Given the description of an element on the screen output the (x, y) to click on. 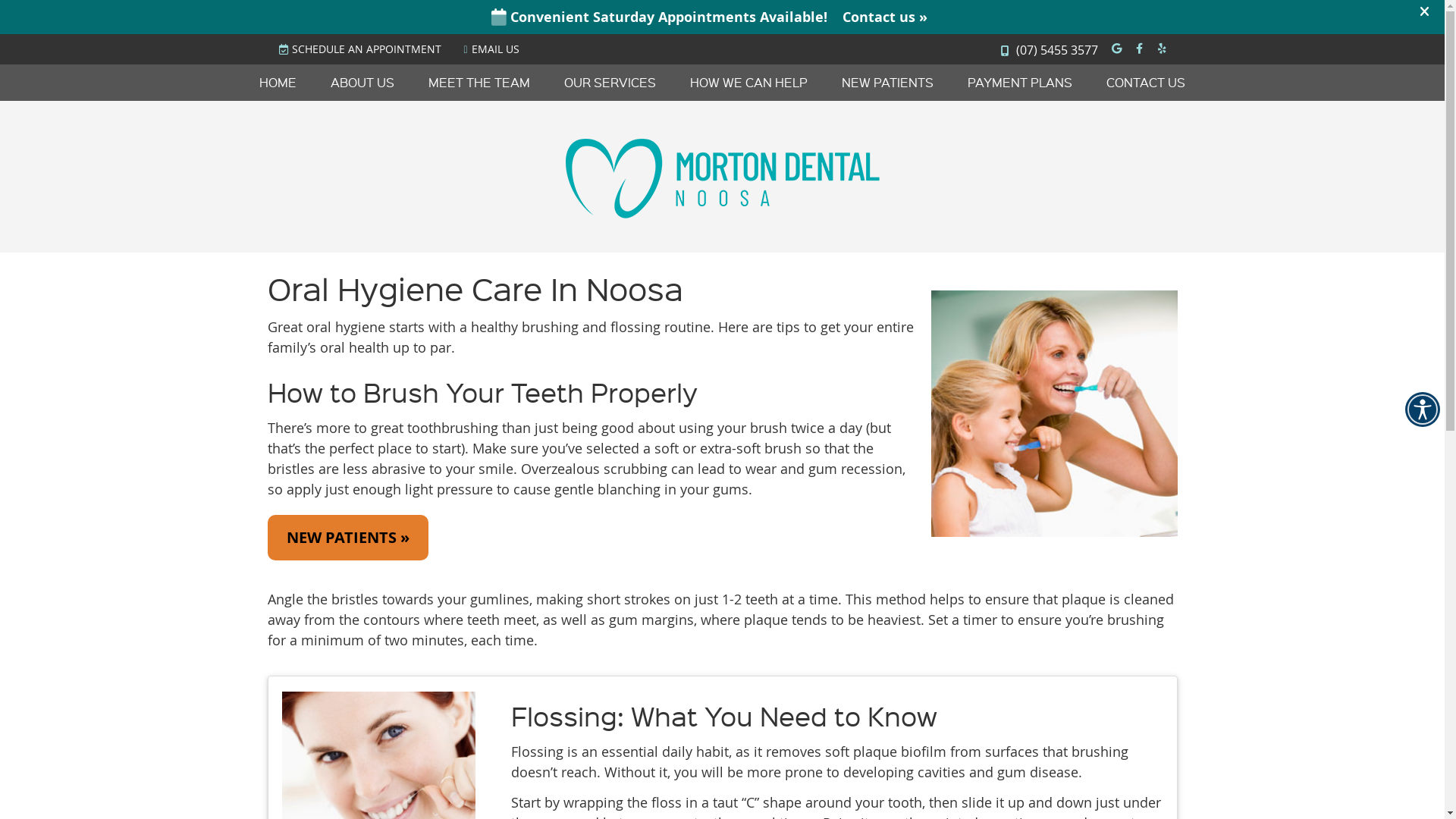
(07) 5455 3577 Element type: text (1057, 49)
SCHEDULE AN APPOINTMENT Element type: text (359, 48)
Google Social Button Element type: text (1116, 49)
OUR SERVICES Element type: text (610, 82)
NEW PATIENTS Element type: text (887, 82)
HOW WE CAN HELP Element type: text (749, 82)
Morton Dental Element type: text (722, 212)
MEET THE TEAM Element type: text (479, 82)
PAYMENT PLANS Element type: text (1019, 82)
EMAIL US Element type: text (491, 48)
Yelp Social Button Element type: text (1161, 49)
ABOUT US Element type: text (362, 82)
Facebook Social Button Element type: text (1138, 49)
HOME Element type: text (277, 82)
CONTACT US Element type: text (1145, 82)
